Given the description of an element on the screen output the (x, y) to click on. 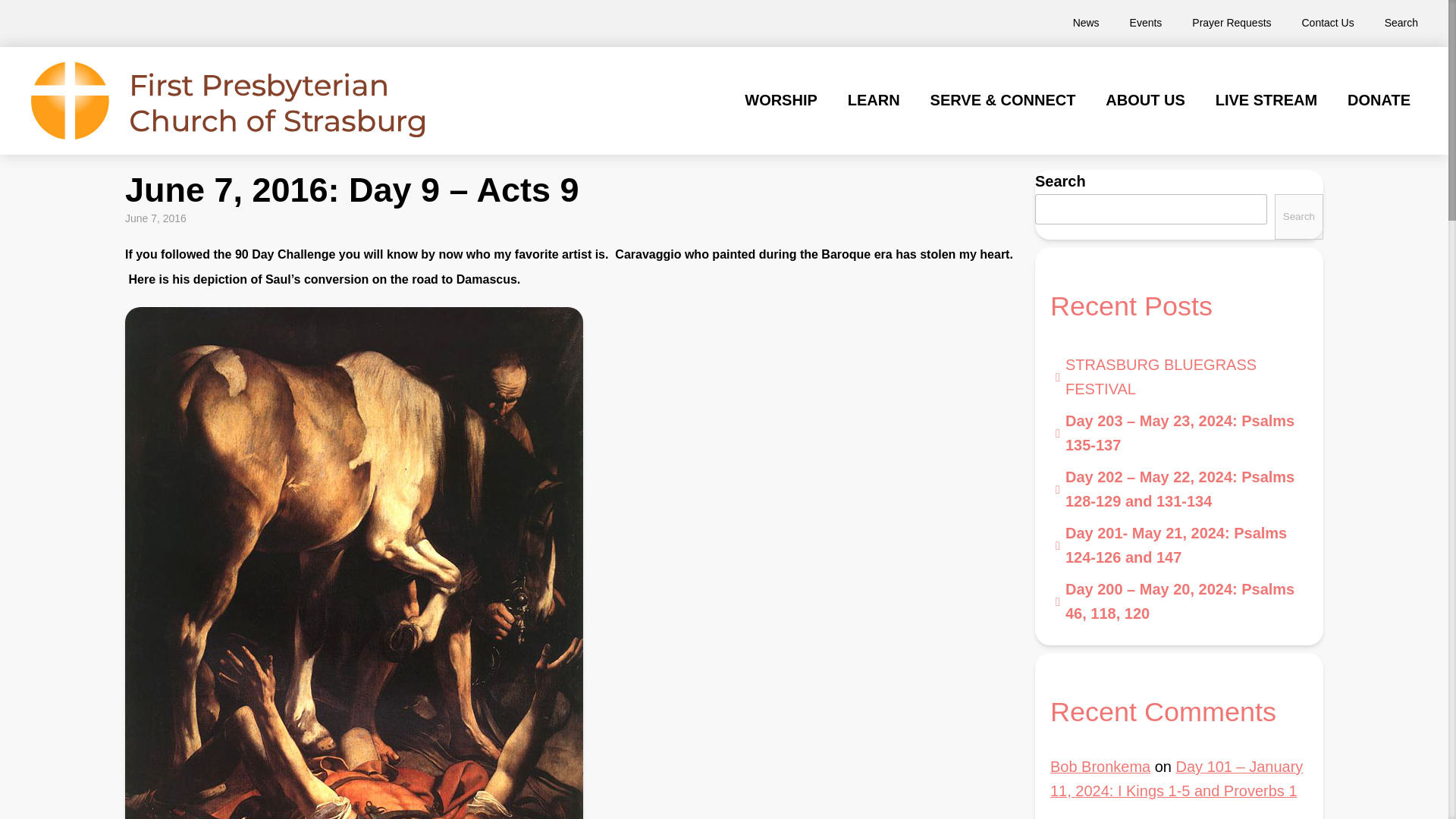
WORSHIP (780, 100)
Prayer Requests (1230, 23)
Contact Us (1328, 23)
Search (1401, 23)
LEARN (873, 100)
First Presbyterian Church of Strasburg (227, 100)
News (1086, 23)
Events (1146, 23)
